Given the description of an element on the screen output the (x, y) to click on. 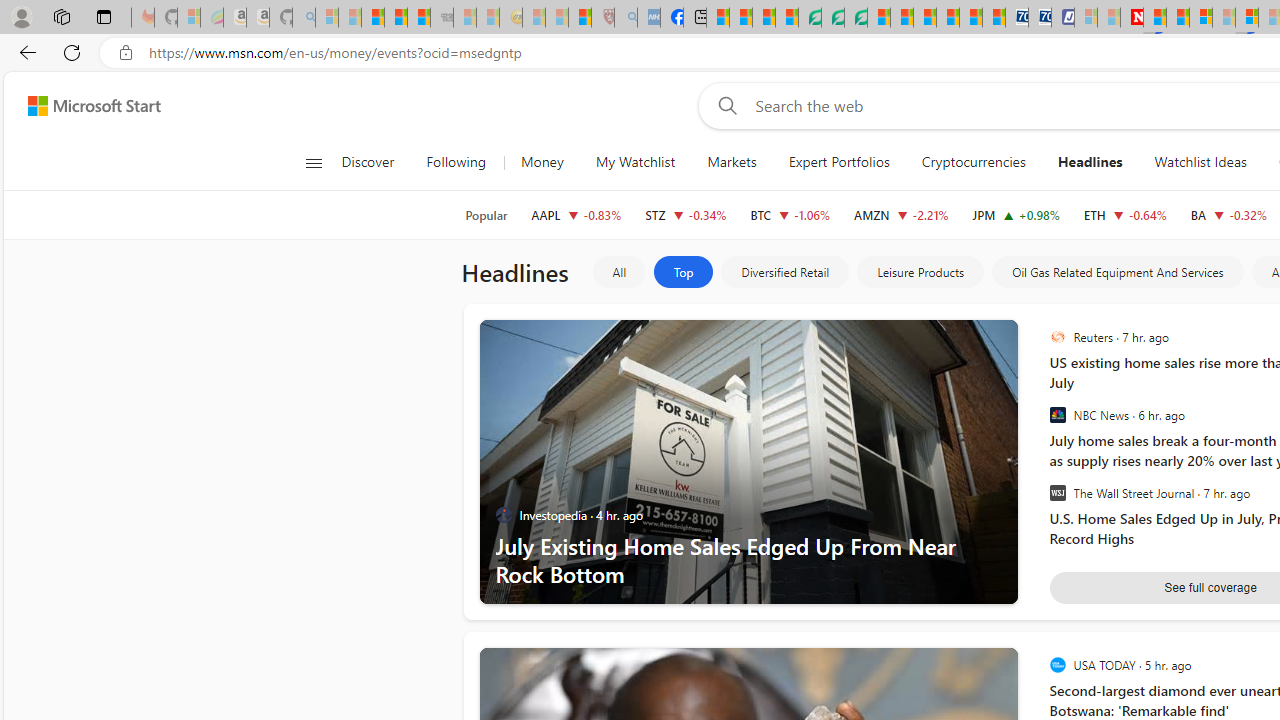
Discover (375, 162)
Watchlist Ideas (1200, 162)
Investopedia (503, 515)
Oil Gas Related Equipment And Services (1118, 272)
NCL Adult Asthma Inhaler Choice Guideline - Sleeping (648, 17)
Microsoft Word - consumer-privacy address update 2.2021 (855, 17)
Robert H. Shmerling, MD - Harvard Health - Sleeping (602, 17)
My Watchlist (635, 162)
BTC Bitcoin decrease 60,599.60 -639.75 -1.06% (790, 214)
Skip to footer (82, 105)
